Given the description of an element on the screen output the (x, y) to click on. 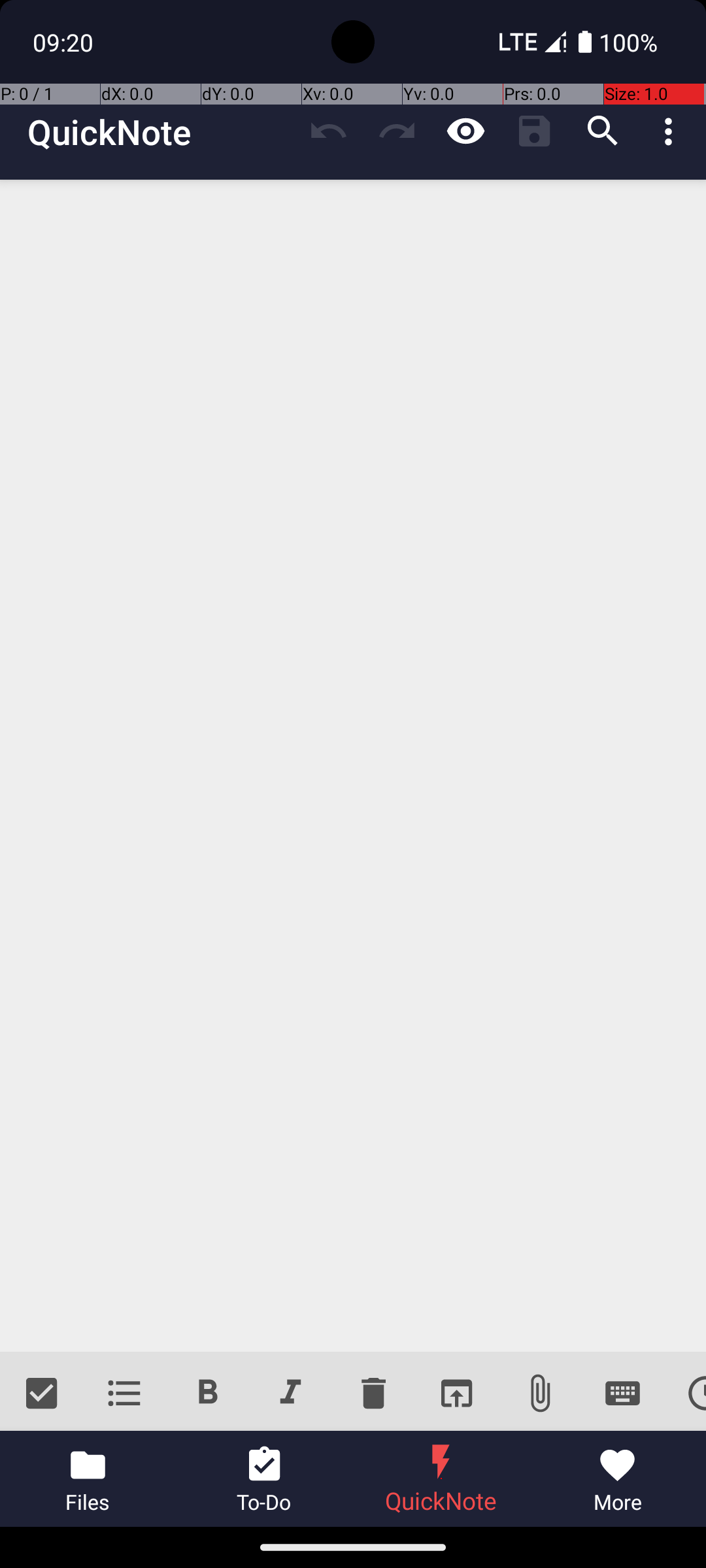
09:20 Element type: android.widget.TextView (64, 41)
